Given the description of an element on the screen output the (x, y) to click on. 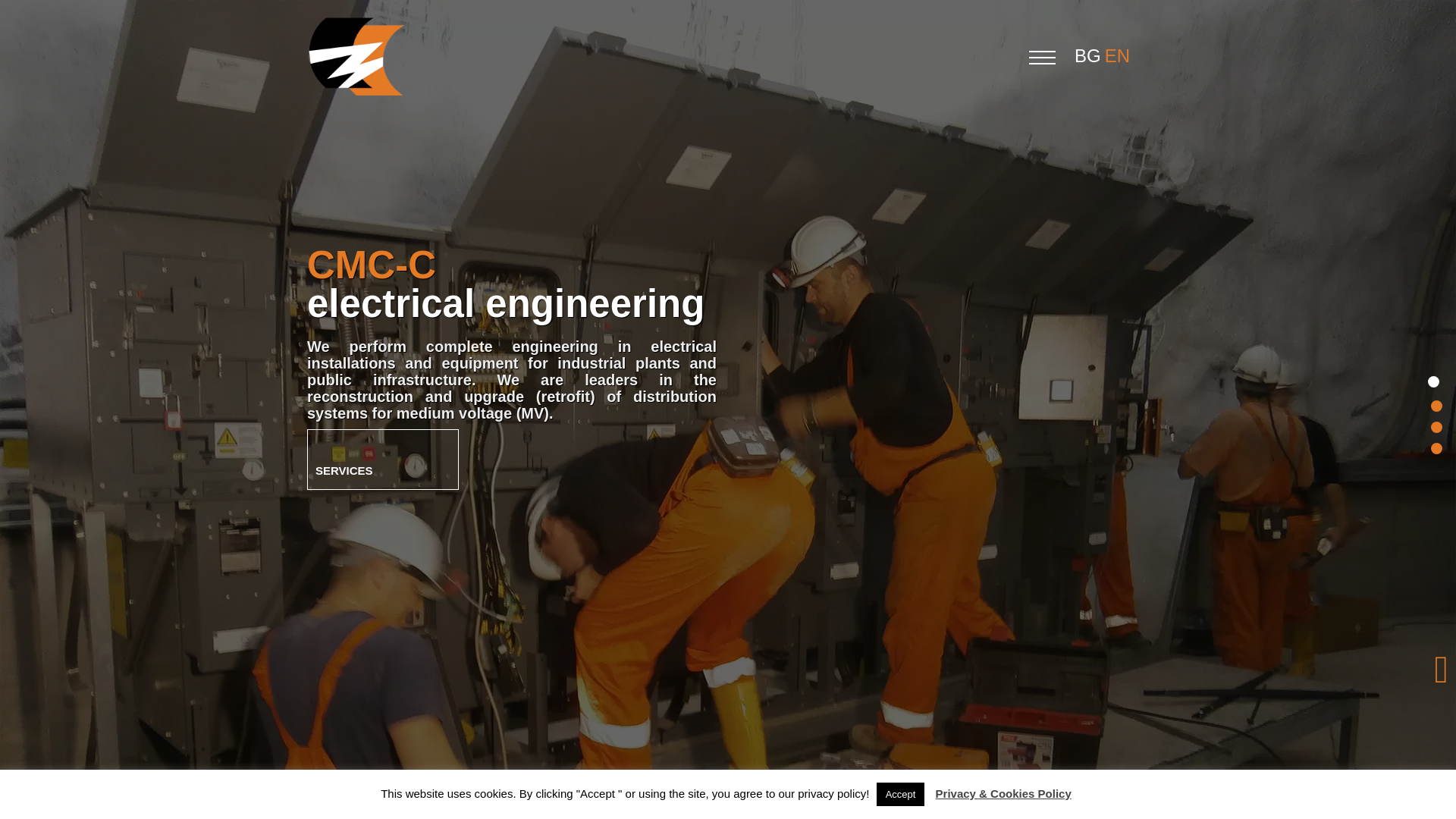
Services (382, 459)
Products (1432, 423)
SERVICES (382, 459)
About us (1432, 402)
Accept (900, 793)
Career (1432, 444)
Home (1432, 380)
English (1119, 55)
